Given the description of an element on the screen output the (x, y) to click on. 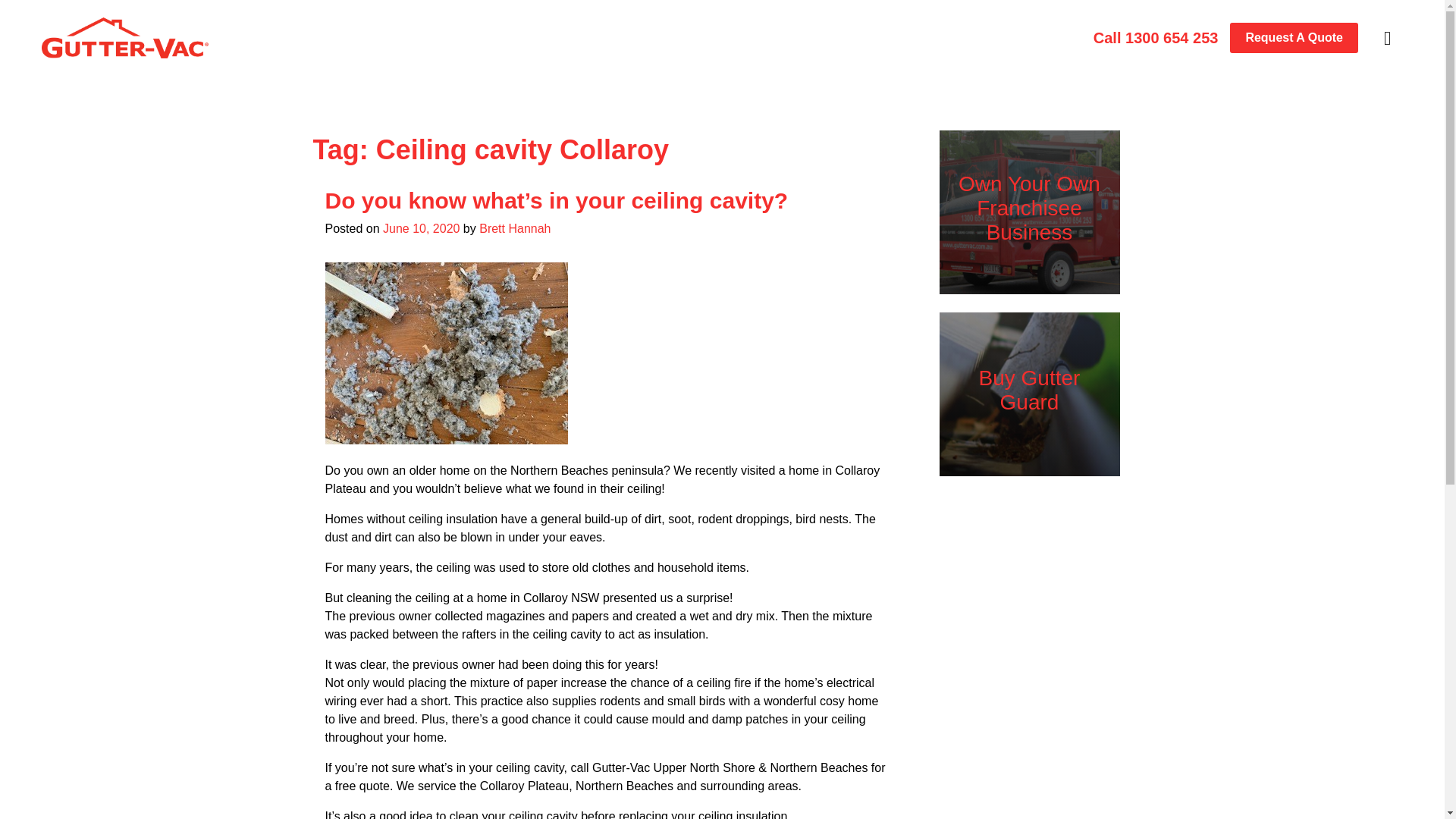
Own Your Own Franchisee Business (1029, 207)
June 10, 2020 (421, 228)
Call 1300 654 253 (1155, 37)
Request A Quote (1294, 37)
Buy Gutter Guard (1029, 390)
Brett Hannah (514, 228)
